Given the description of an element on the screen output the (x, y) to click on. 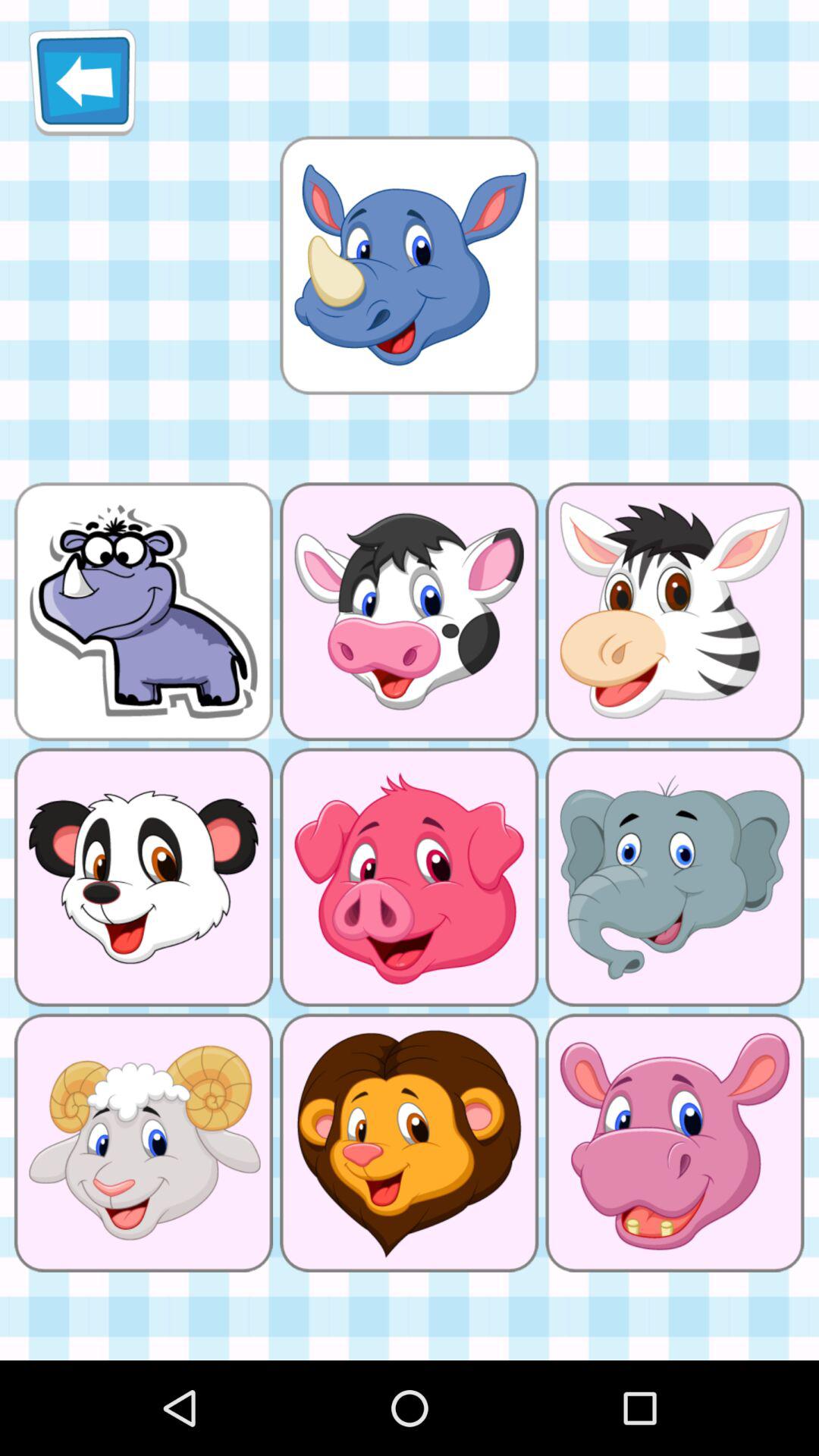
tap the icon at the top (409, 264)
